Given the description of an element on the screen output the (x, y) to click on. 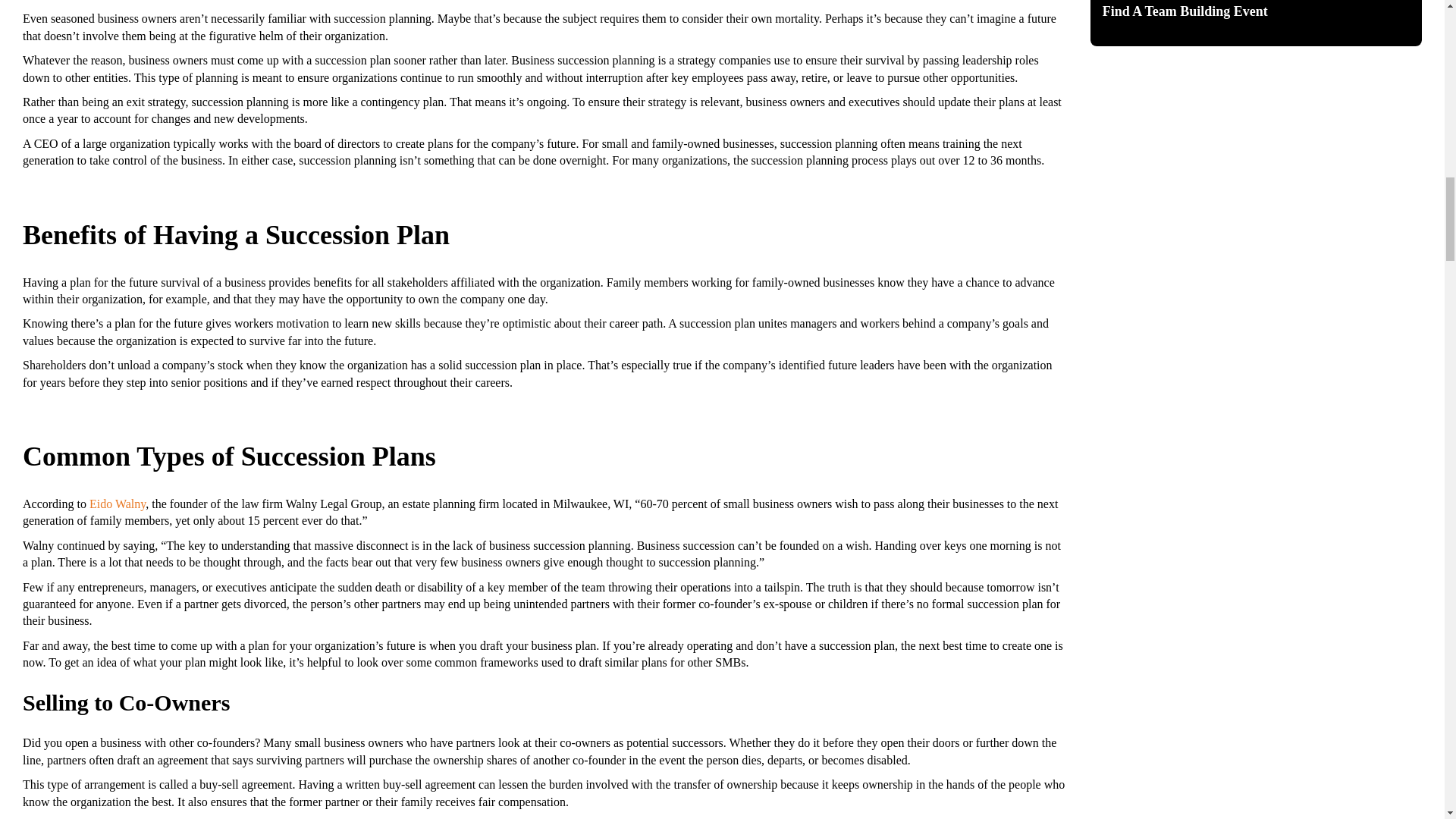
Eido Walny (116, 503)
